Given the description of an element on the screen output the (x, y) to click on. 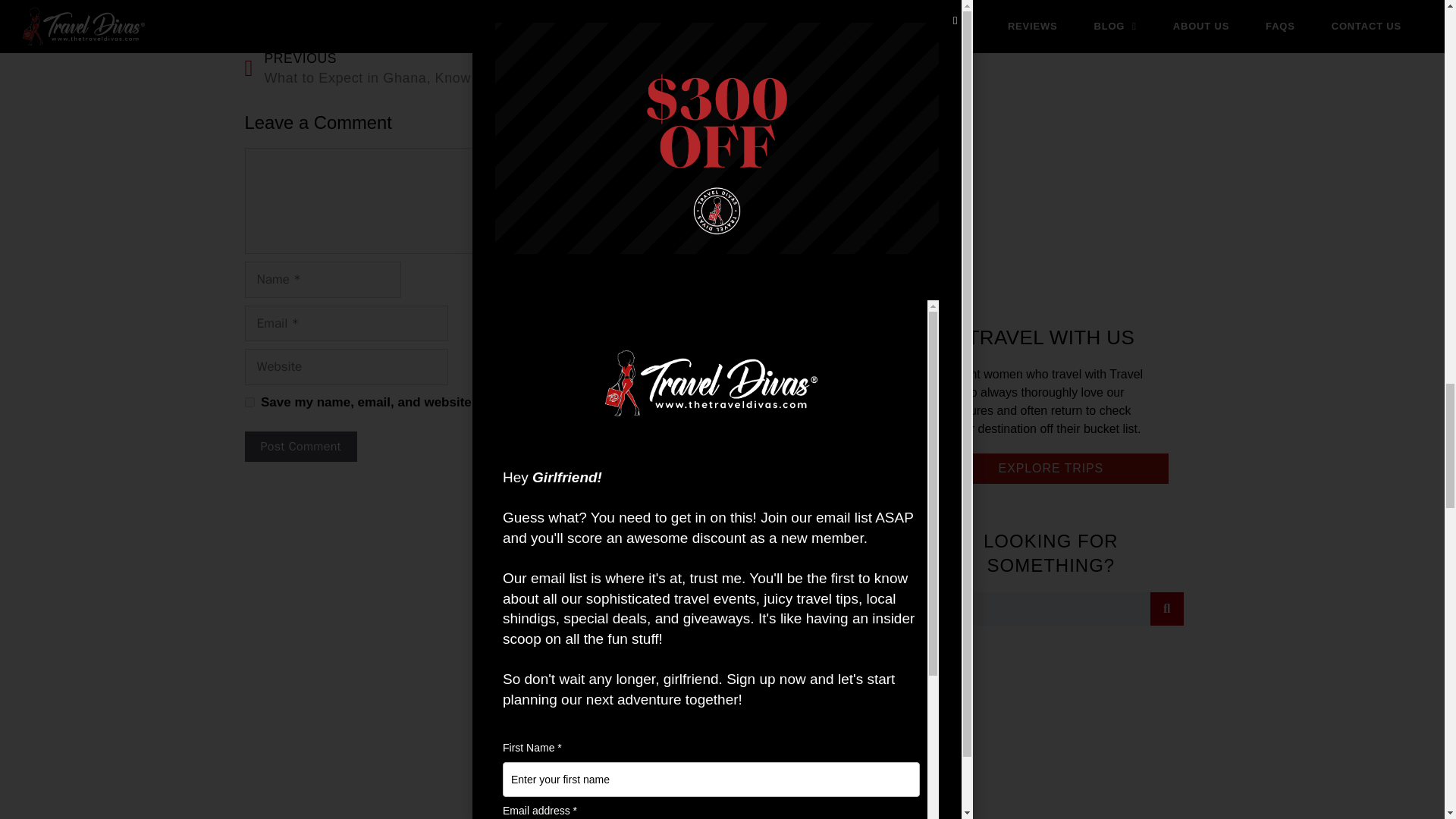
yes (248, 402)
Post Comment (300, 446)
